Given the description of an element on the screen output the (x, y) to click on. 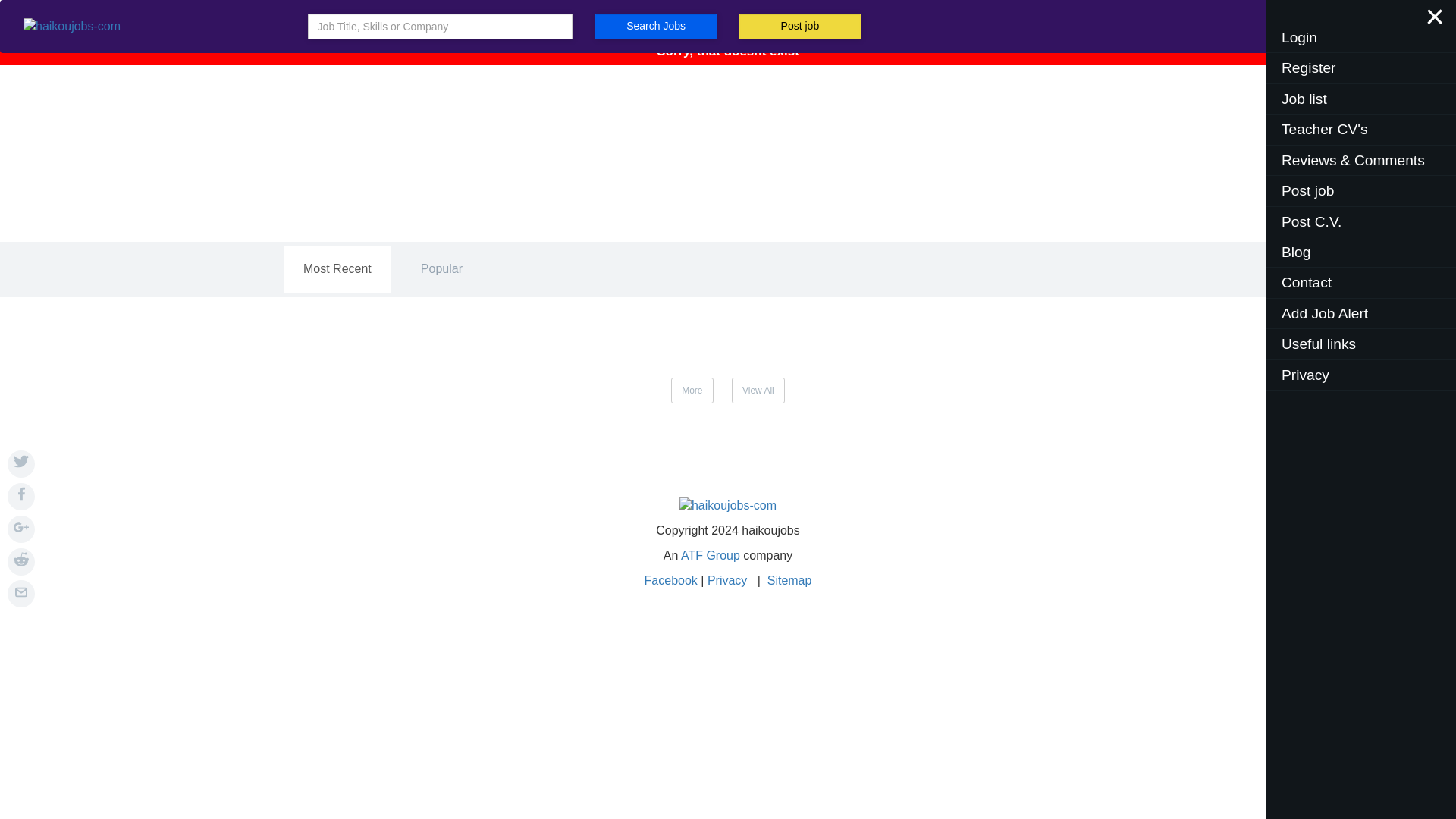
ATF Group (710, 554)
Popular (441, 269)
Facebook (671, 580)
View All (758, 390)
Most Recent (336, 269)
Read this post (727, 84)
Privacy (729, 580)
k (20, 496)
Sitemap (789, 580)
FEATURED ARTICLE (727, 84)
Search Jobs (655, 26)
Post job (799, 26)
